Given the description of an element on the screen output the (x, y) to click on. 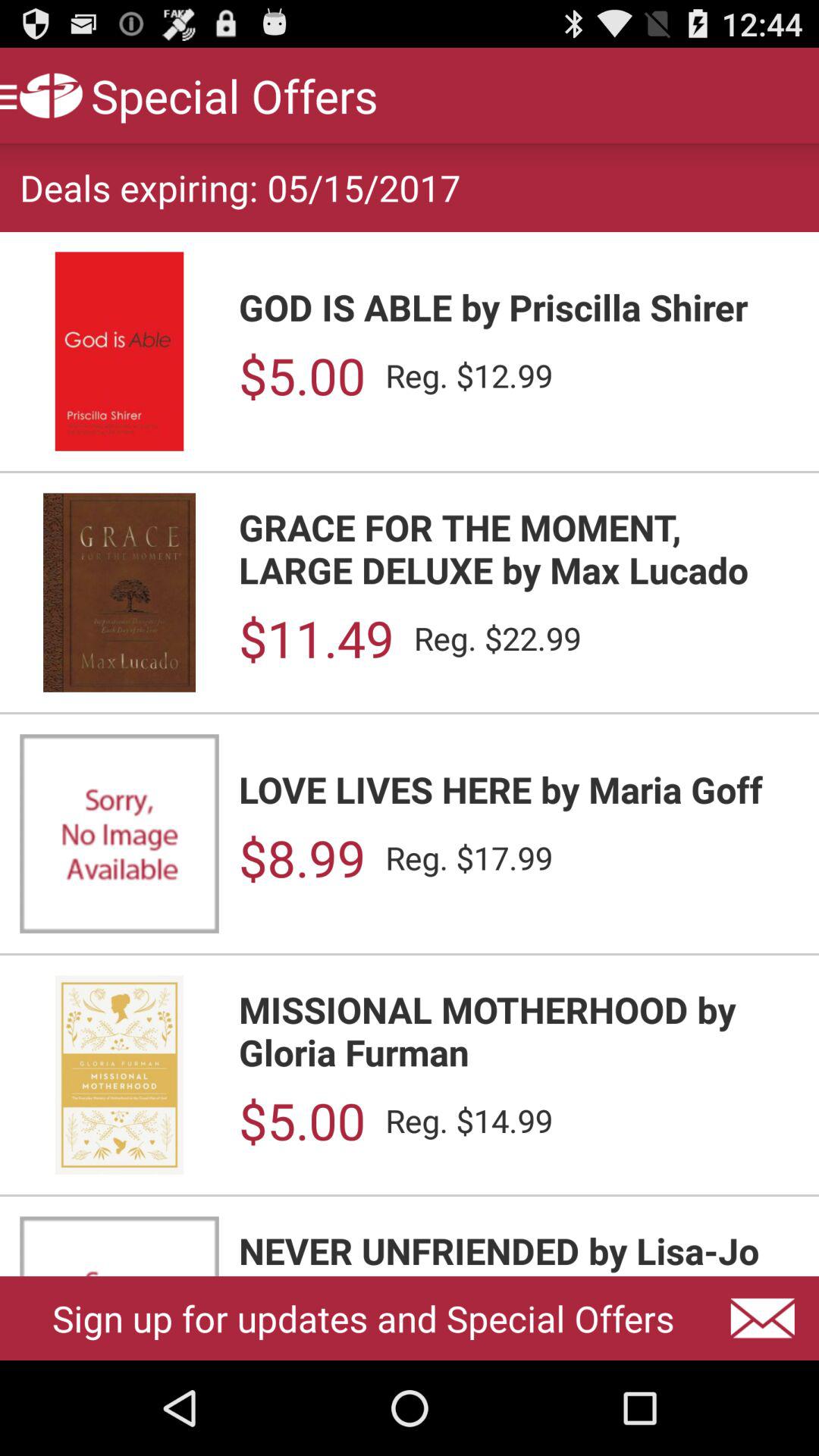
tap love lives here icon (518, 788)
